Given the description of an element on the screen output the (x, y) to click on. 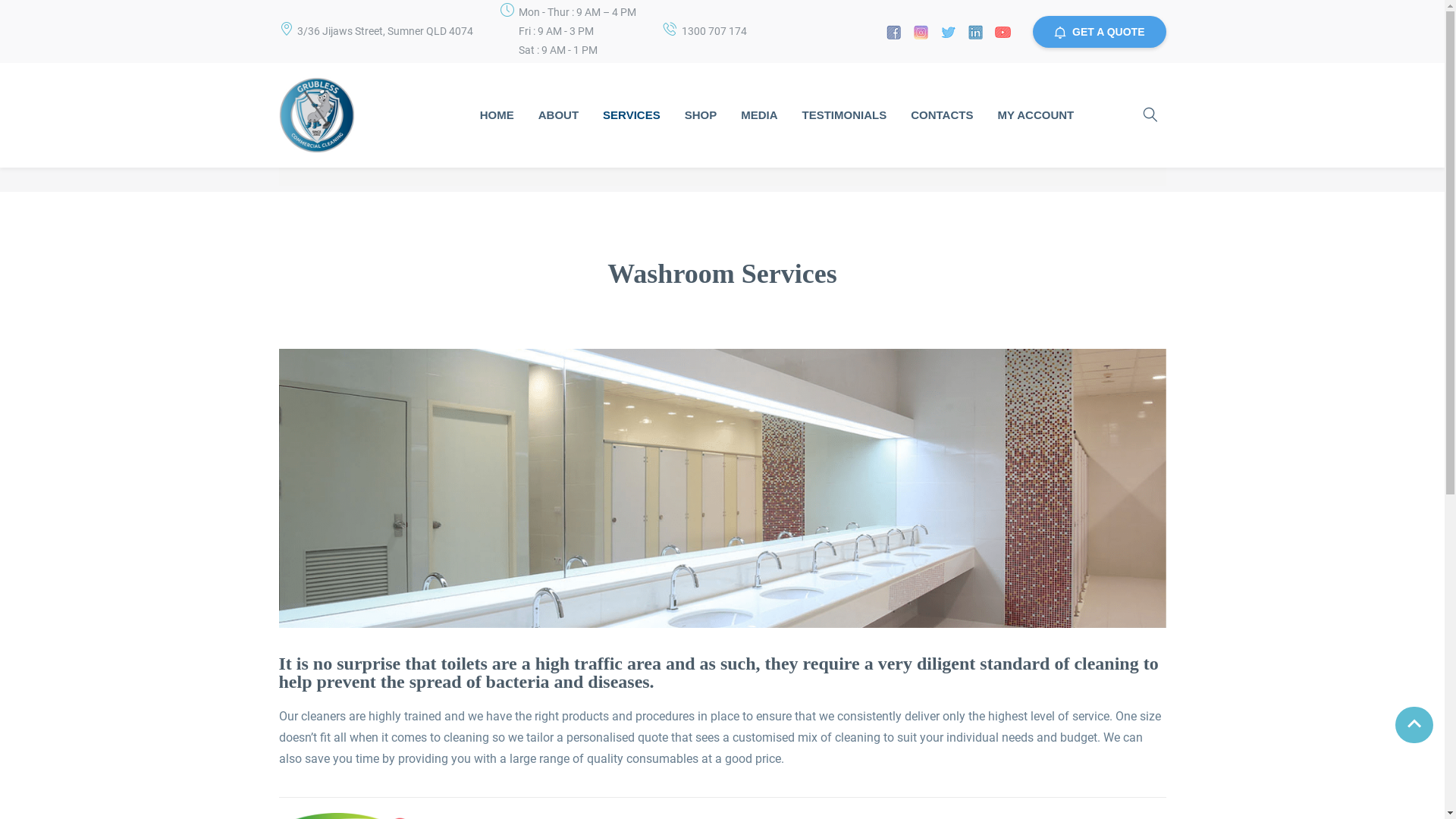
SERVICES Element type: text (631, 115)
GET A QUOTE Element type: text (1098, 31)
ABOUT Element type: text (558, 115)
HOME Element type: text (496, 115)
CONTACTS Element type: text (941, 115)
MY ACCOUNT Element type: text (1035, 115)
TESTIMONIALS Element type: text (844, 115)
SHOP Element type: text (700, 115)
MEDIA Element type: text (758, 115)
